Given the description of an element on the screen output the (x, y) to click on. 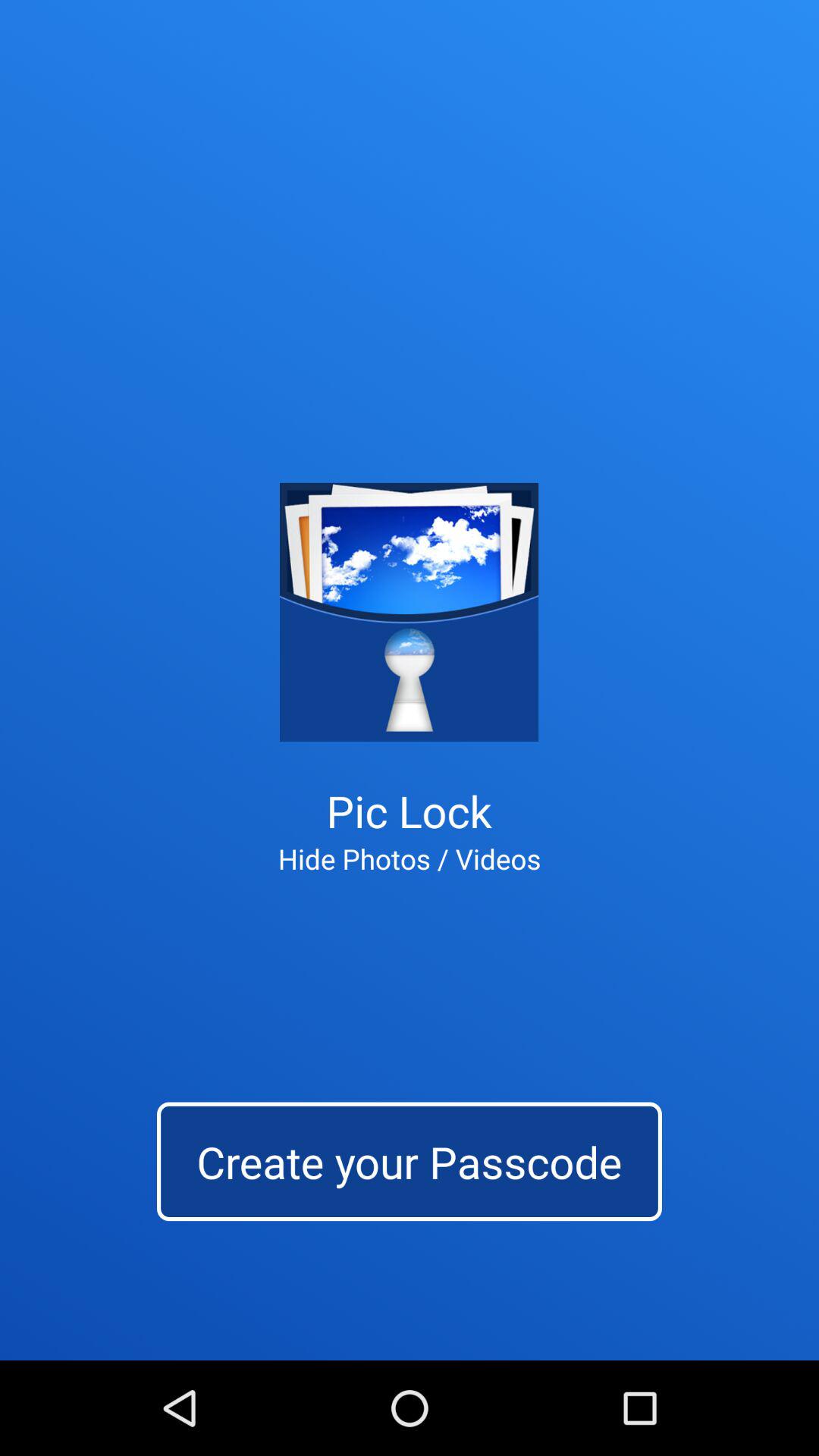
launch the app below the hide photos / videos (409, 1161)
